Given the description of an element on the screen output the (x, y) to click on. 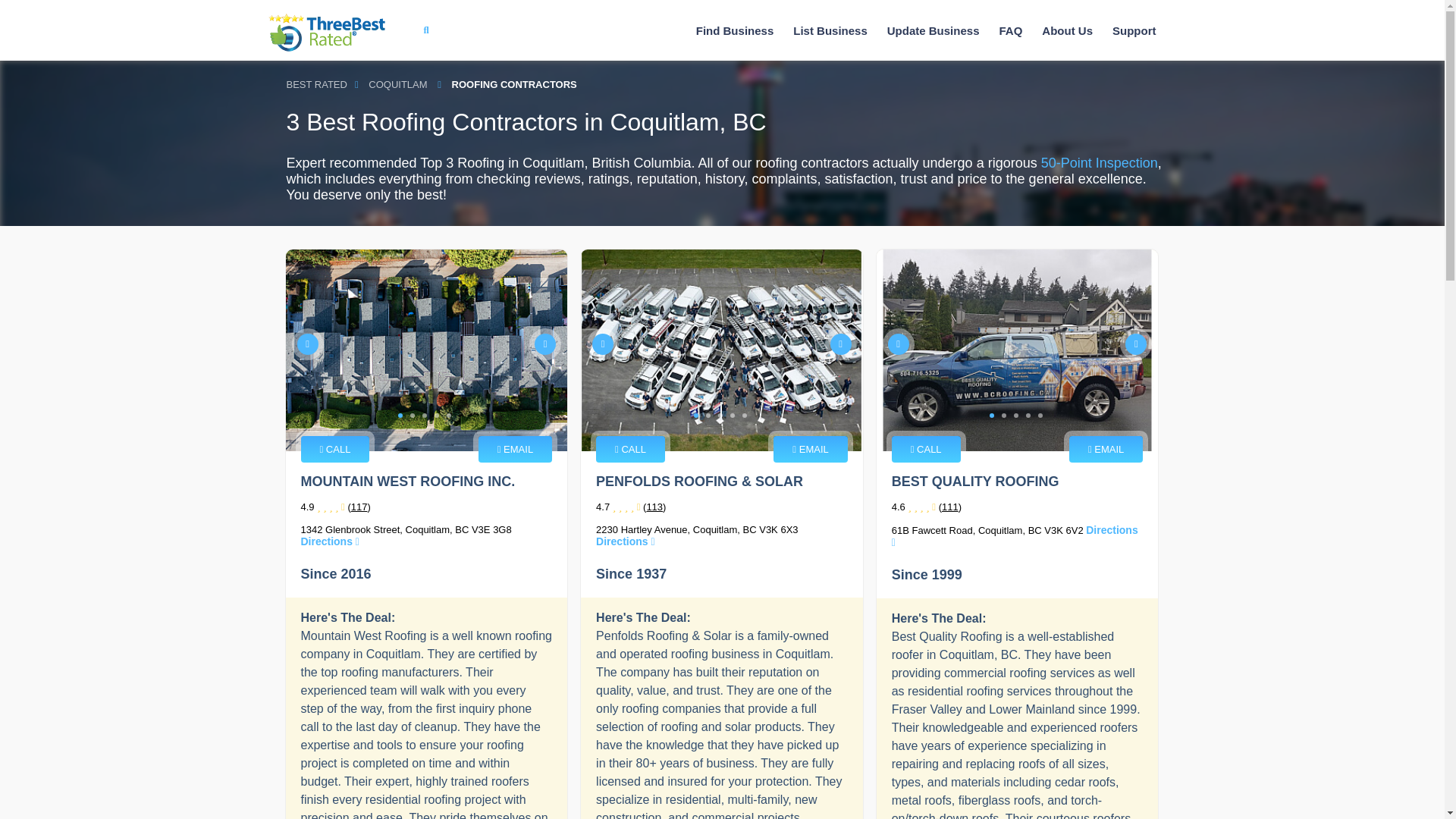
50-Point Inspection (1099, 162)
Update Business (933, 30)
About Us (1066, 30)
Support (1134, 30)
BEST RATED (317, 84)
List your business for Free! (830, 30)
Update your business for Free! (933, 30)
